Given the description of an element on the screen output the (x, y) to click on. 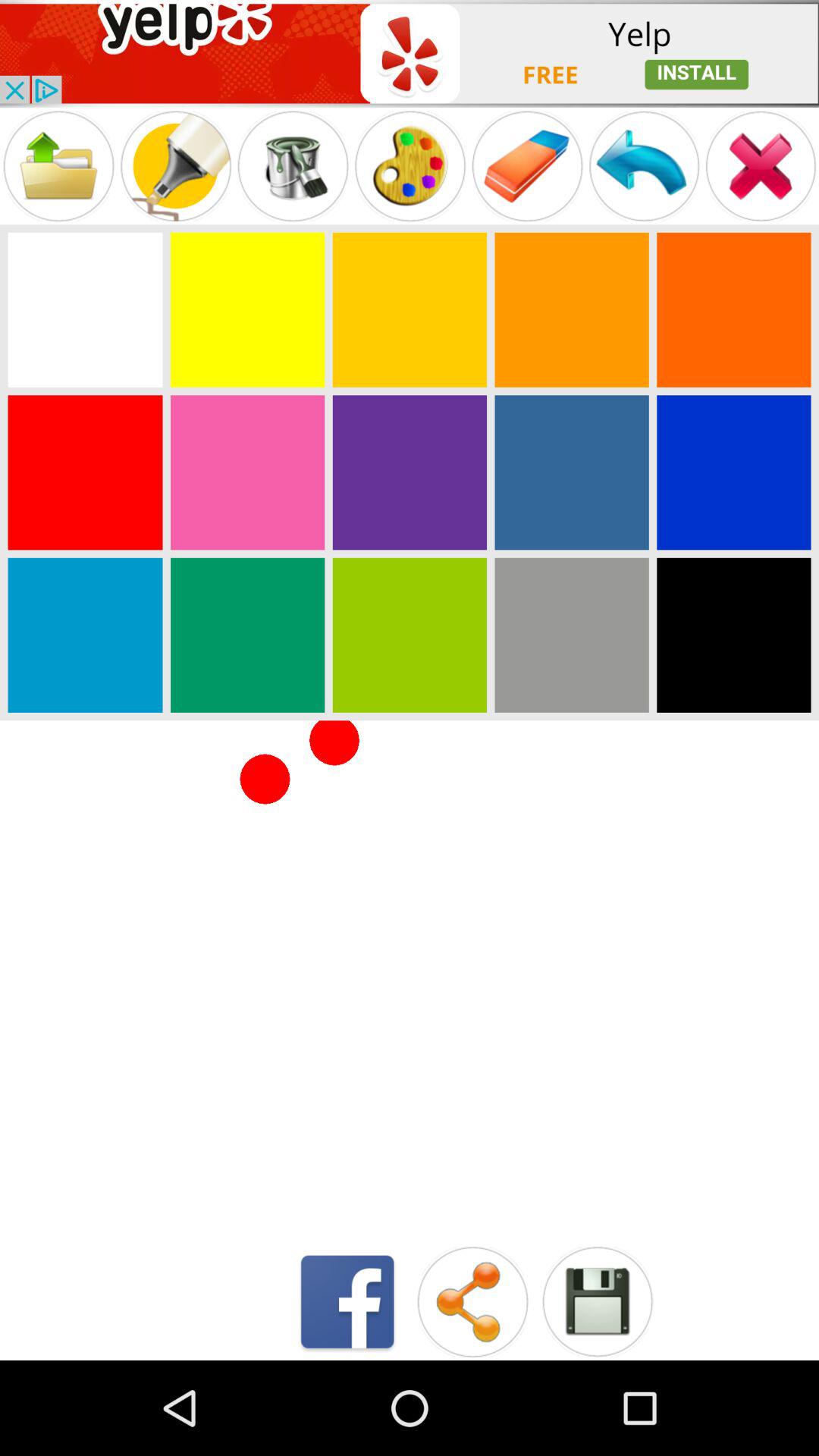
empty box (84, 309)
